Given the description of an element on the screen output the (x, y) to click on. 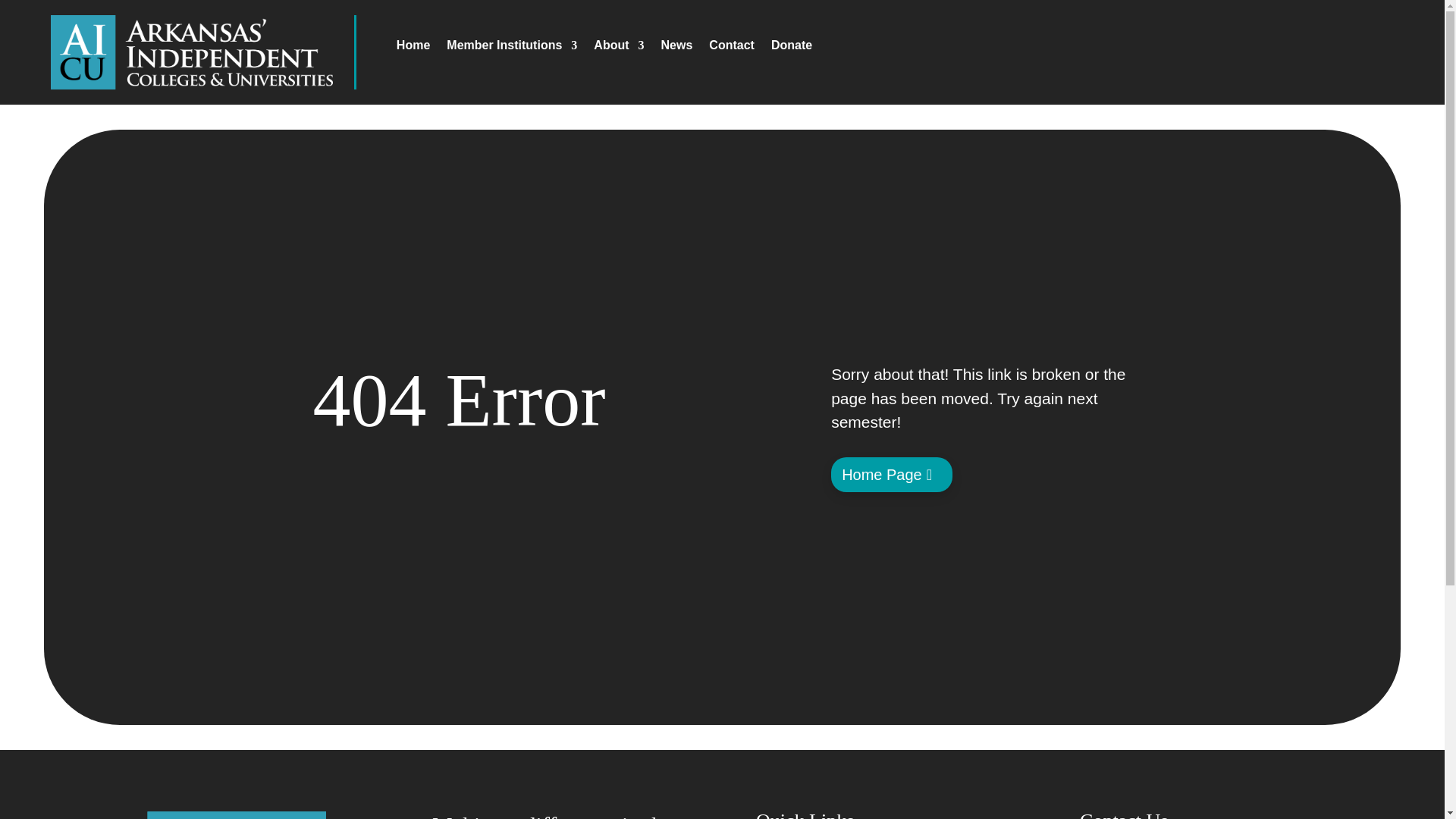
Contact (731, 48)
Home (412, 48)
Donate (791, 48)
Member Institutions (511, 48)
News (677, 48)
About (618, 48)
